Given the description of an element on the screen output the (x, y) to click on. 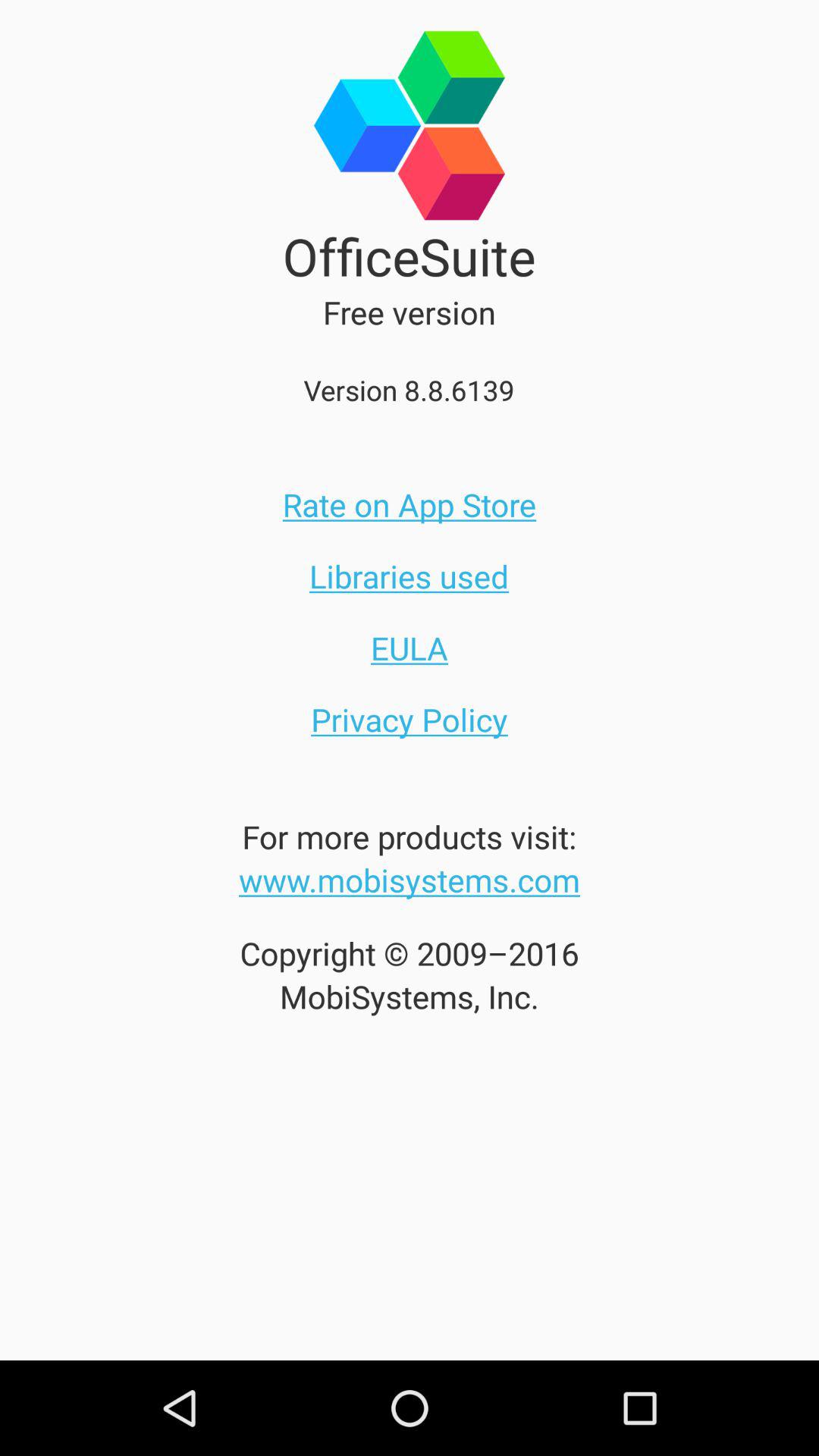
open the icon above eula item (408, 575)
